Given the description of an element on the screen output the (x, y) to click on. 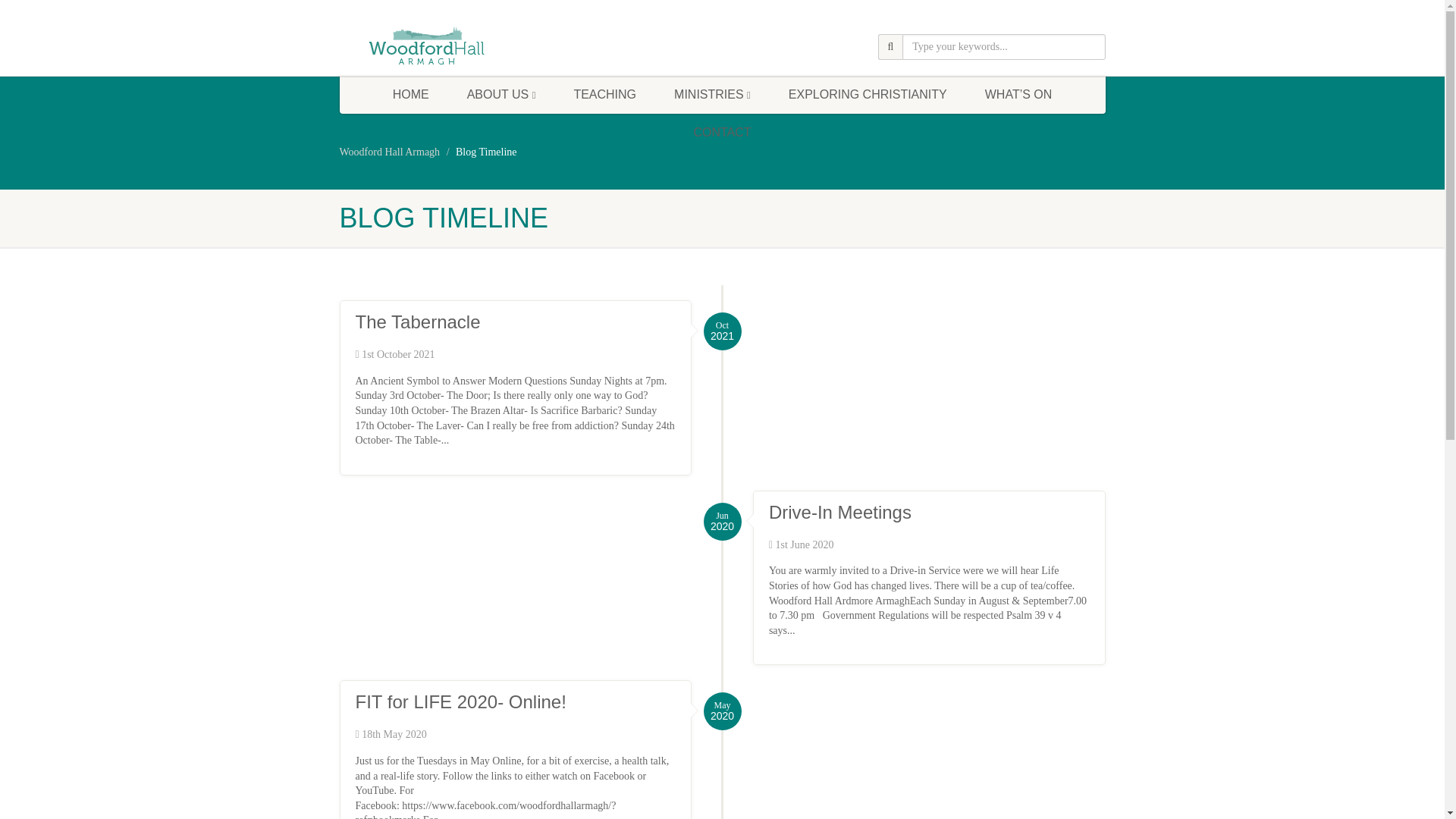
CONTACT (722, 132)
MINISTRIES (712, 94)
The Tabernacle (417, 322)
Logo (459, 46)
Drive-In Meetings (839, 512)
ABOUT US (501, 94)
EXPLORING CHRISTIANITY (868, 94)
Go to Woodford Hall Armagh. (390, 152)
TEACHING (604, 94)
FIT for LIFE 2020- Online! (460, 701)
Woodford Hall Armagh (390, 152)
HOME (411, 94)
